Given the description of an element on the screen output the (x, y) to click on. 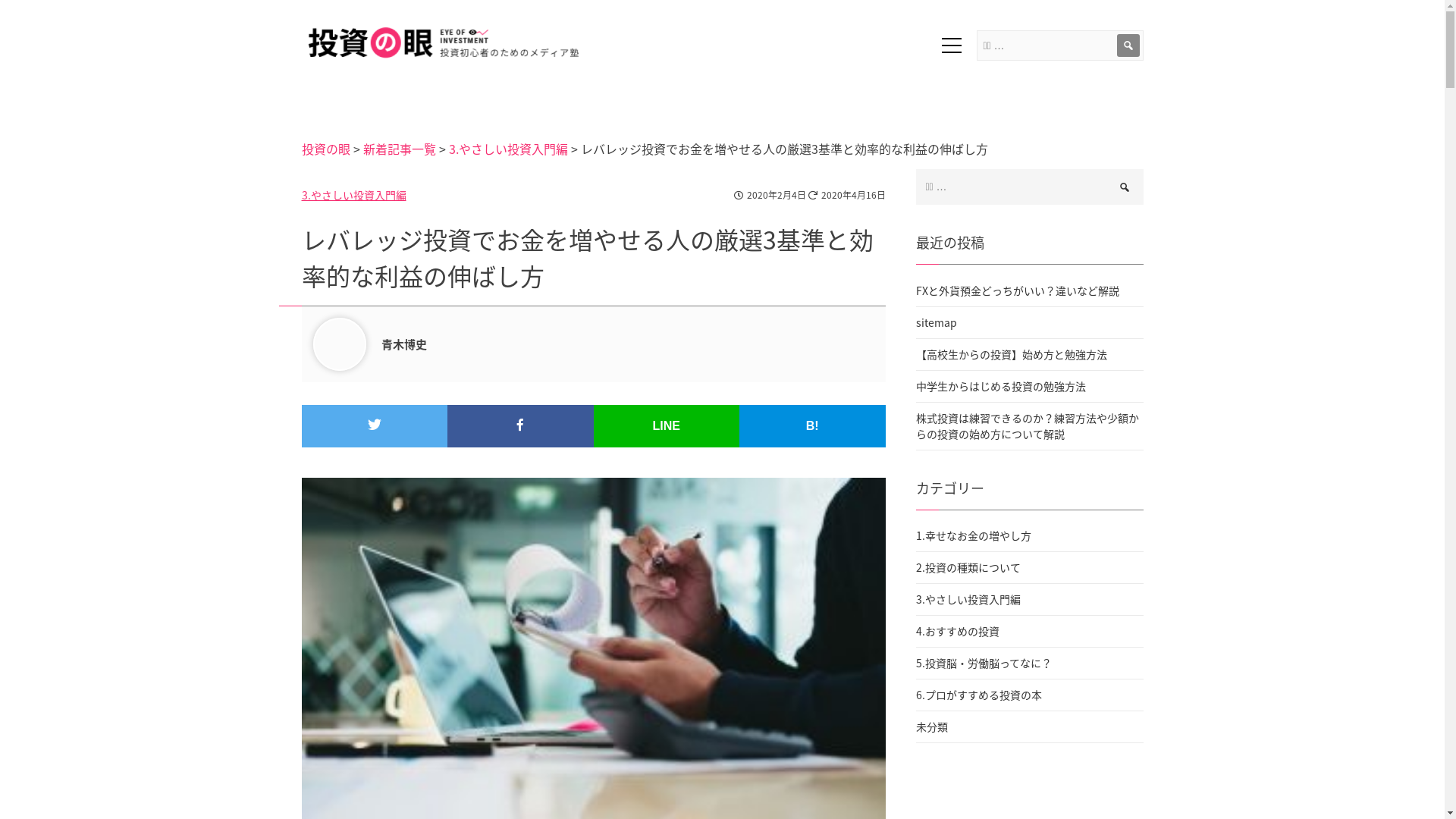
LINE Element type: text (666, 425)
B! Element type: text (812, 425)
sitemap Element type: text (1029, 321)
